Given the description of an element on the screen output the (x, y) to click on. 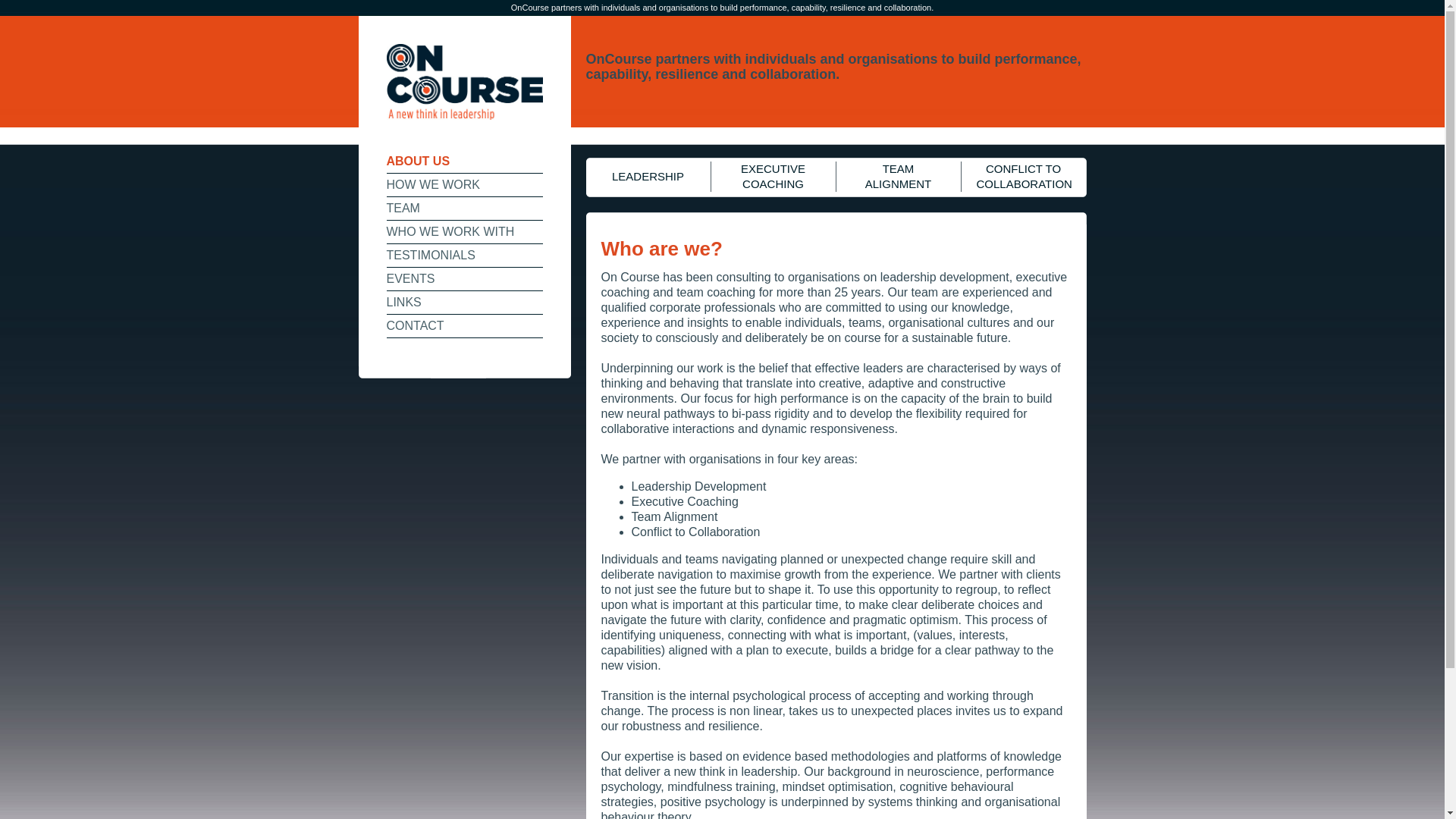
EXECUTIVE COACHING Element type: text (773, 176)
LEADERSHIP Element type: text (647, 176)
TEAM Element type: text (464, 208)
EVENTS Element type: text (464, 279)
CONFLICT TO COLLABORATION Element type: text (1023, 176)
TEAM ALIGNMENT Element type: text (897, 176)
ABOUT US Element type: text (464, 161)
TESTIMONIALS Element type: text (464, 255)
HOW WE WORK Element type: text (464, 185)
WHO WE WORK WITH Element type: text (464, 232)
CONTACT Element type: text (464, 326)
LINKS Element type: text (464, 302)
